Given the description of an element on the screen output the (x, y) to click on. 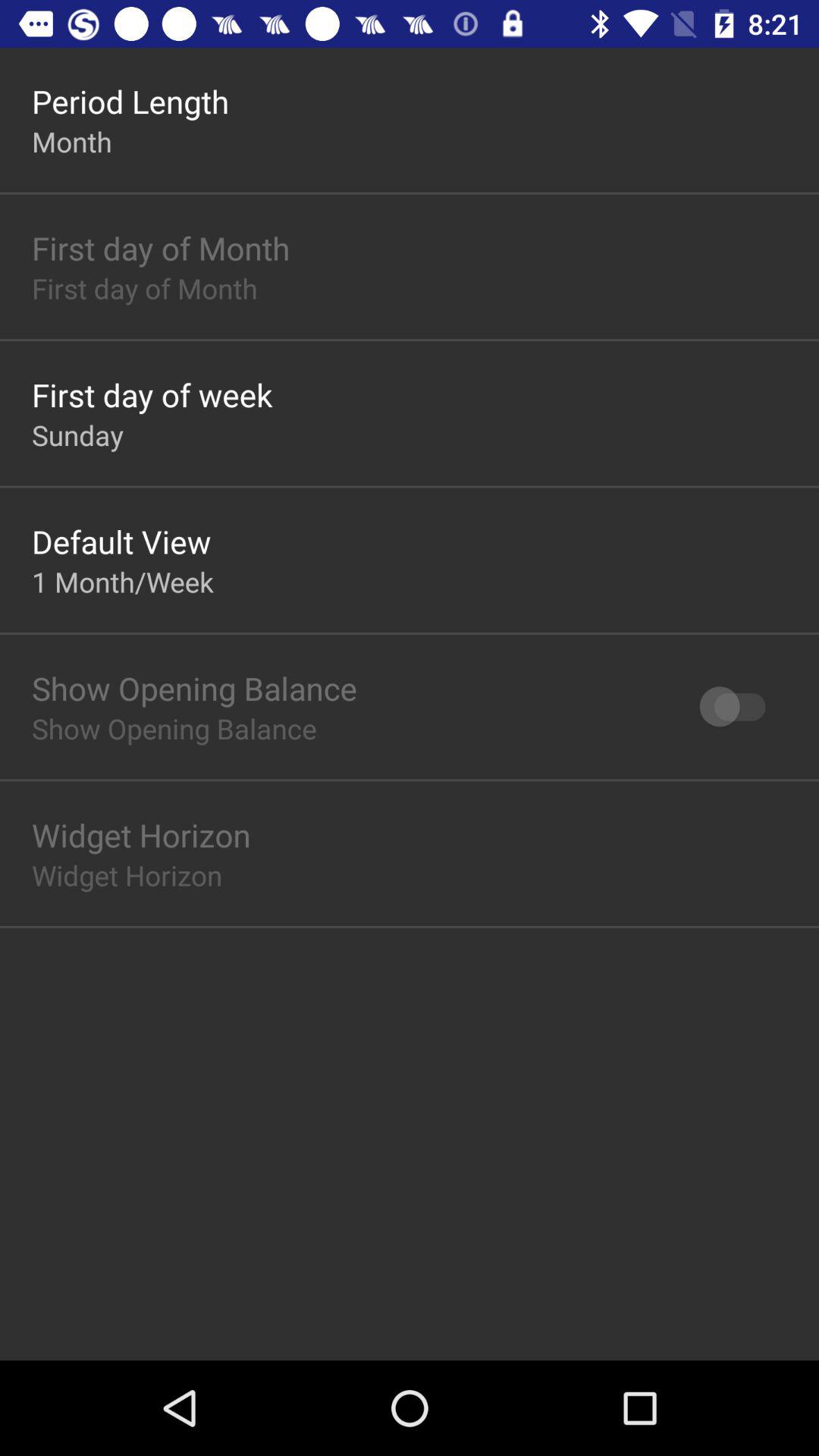
launch the period length (130, 100)
